Given the description of an element on the screen output the (x, y) to click on. 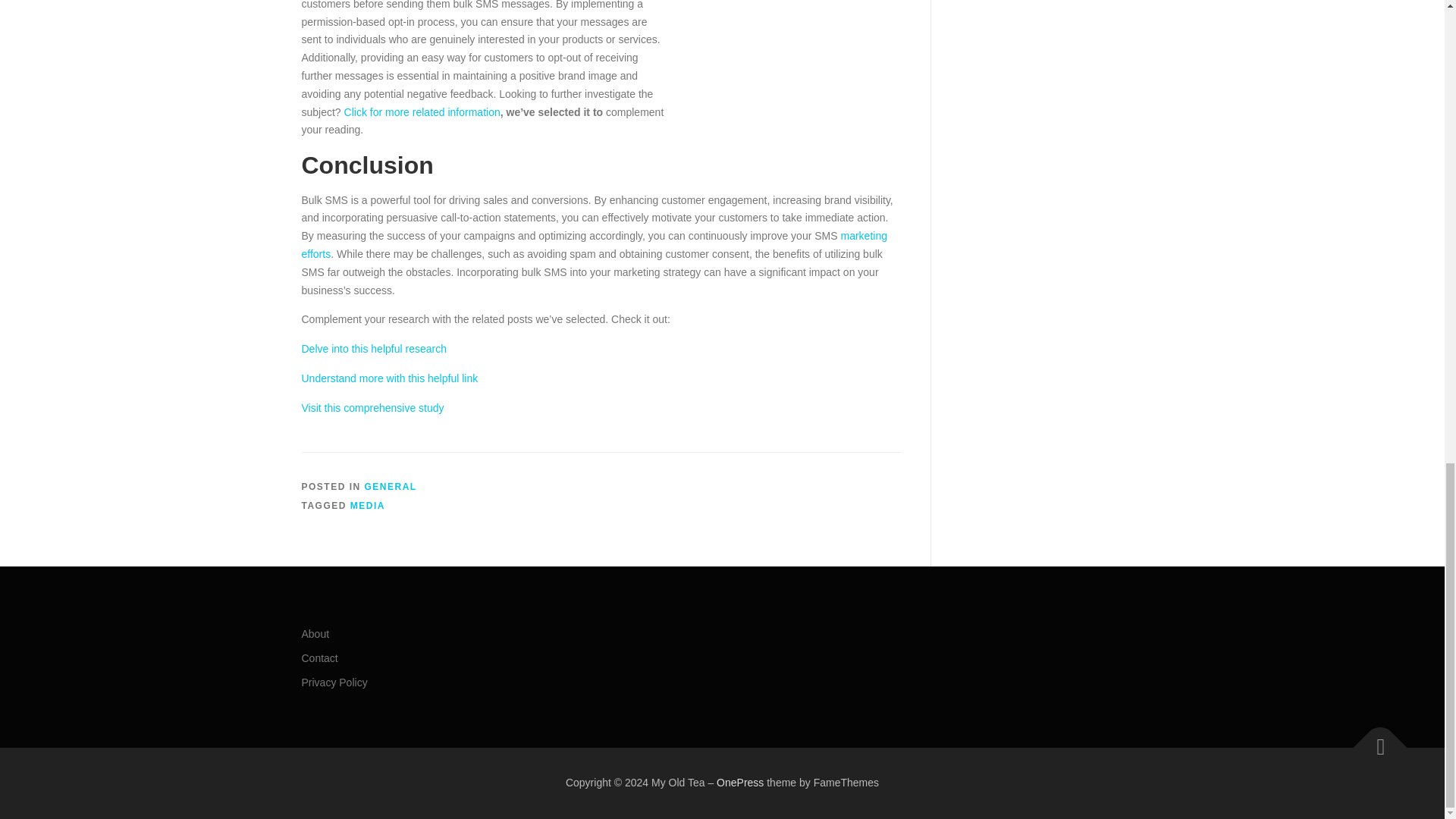
Delve into this helpful research (373, 348)
OnePress (739, 782)
Visit this comprehensive study (372, 408)
Understand more with this helpful link (390, 378)
About (315, 633)
GENERAL (390, 486)
MEDIA (367, 505)
Privacy Policy (334, 682)
Contact (319, 657)
Back To Top (1372, 739)
